Given the description of an element on the screen output the (x, y) to click on. 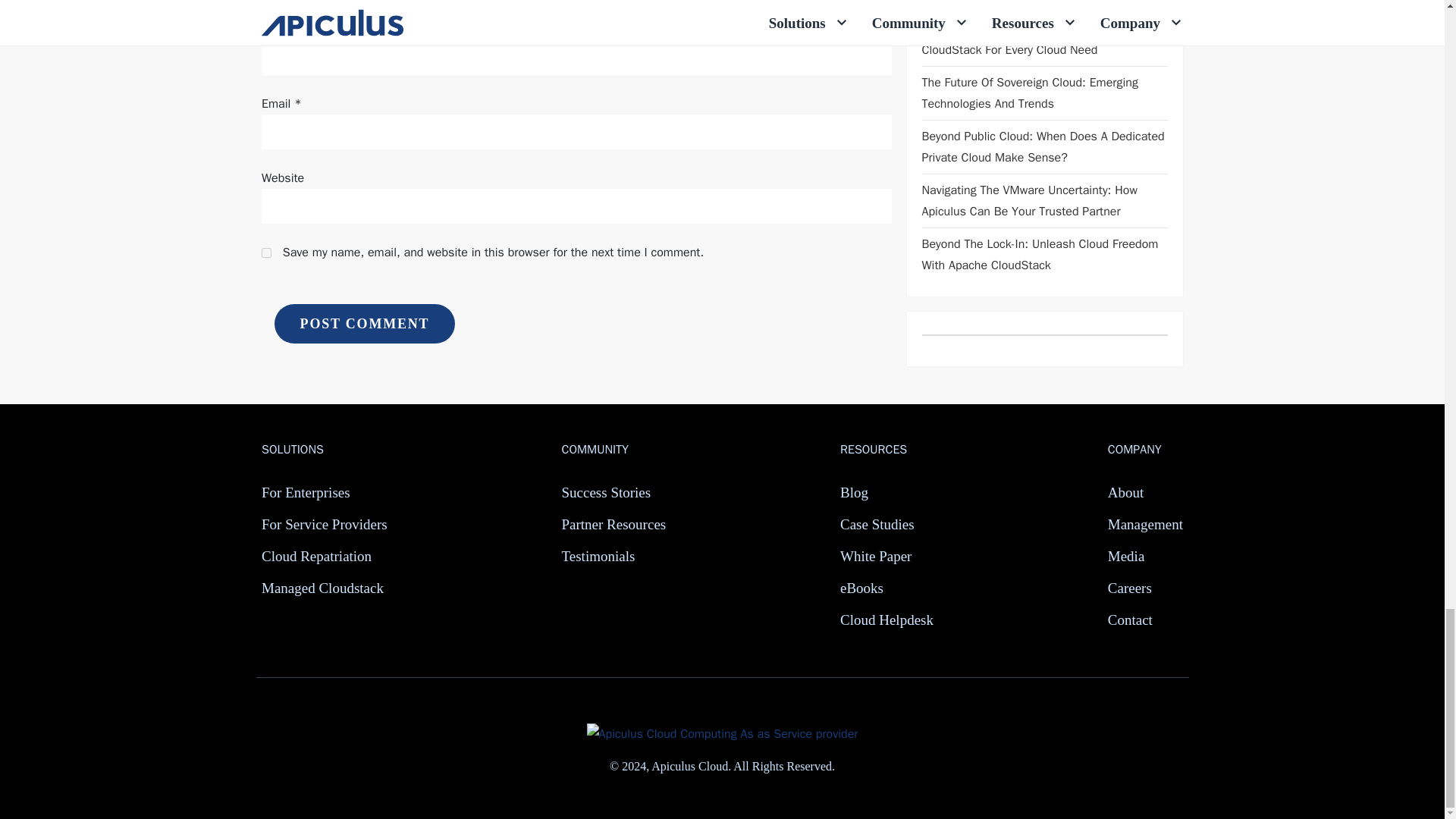
Post Comment (364, 323)
yes (266, 252)
